Given the description of an element on the screen output the (x, y) to click on. 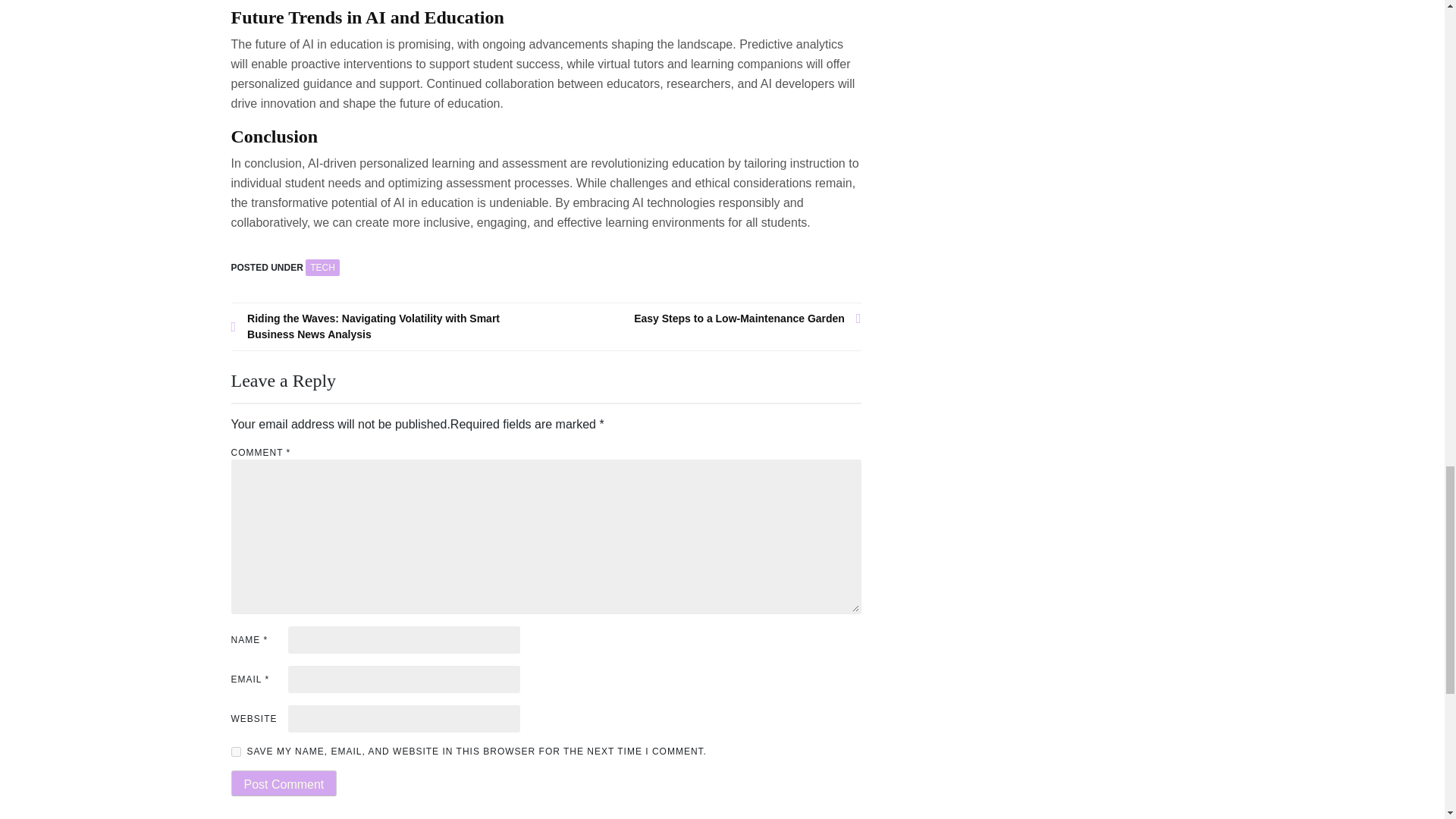
Post Comment (283, 783)
Easy Steps to a Low-Maintenance Garden (703, 318)
TECH (322, 267)
Post Comment (283, 783)
yes (235, 751)
